Given the description of an element on the screen output the (x, y) to click on. 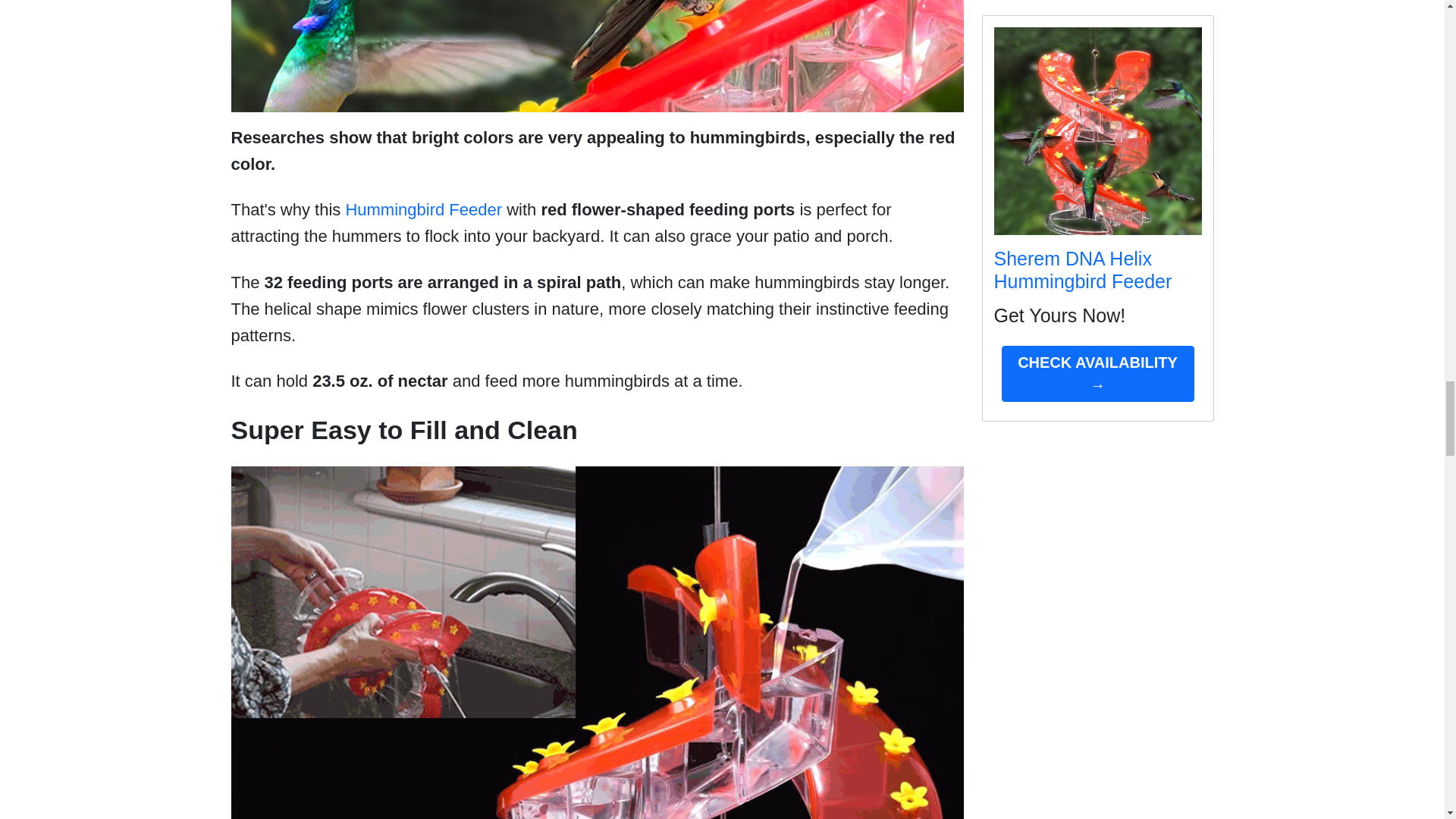
Hummingbird Feeder (423, 209)
